Given the description of an element on the screen output the (x, y) to click on. 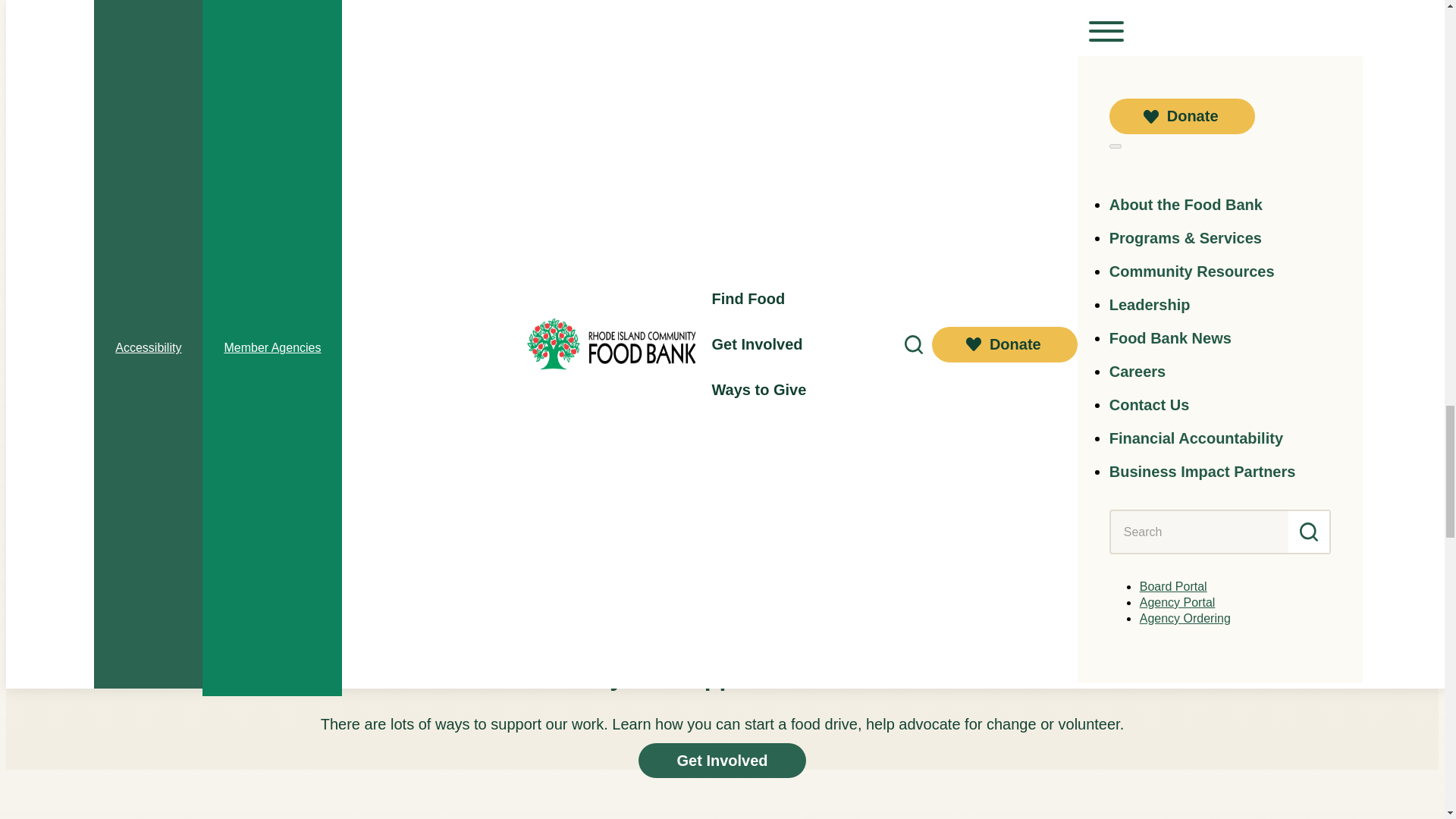
Get Involved (722, 760)
Donate Crypto (104, 265)
